Given the description of an element on the screen output the (x, y) to click on. 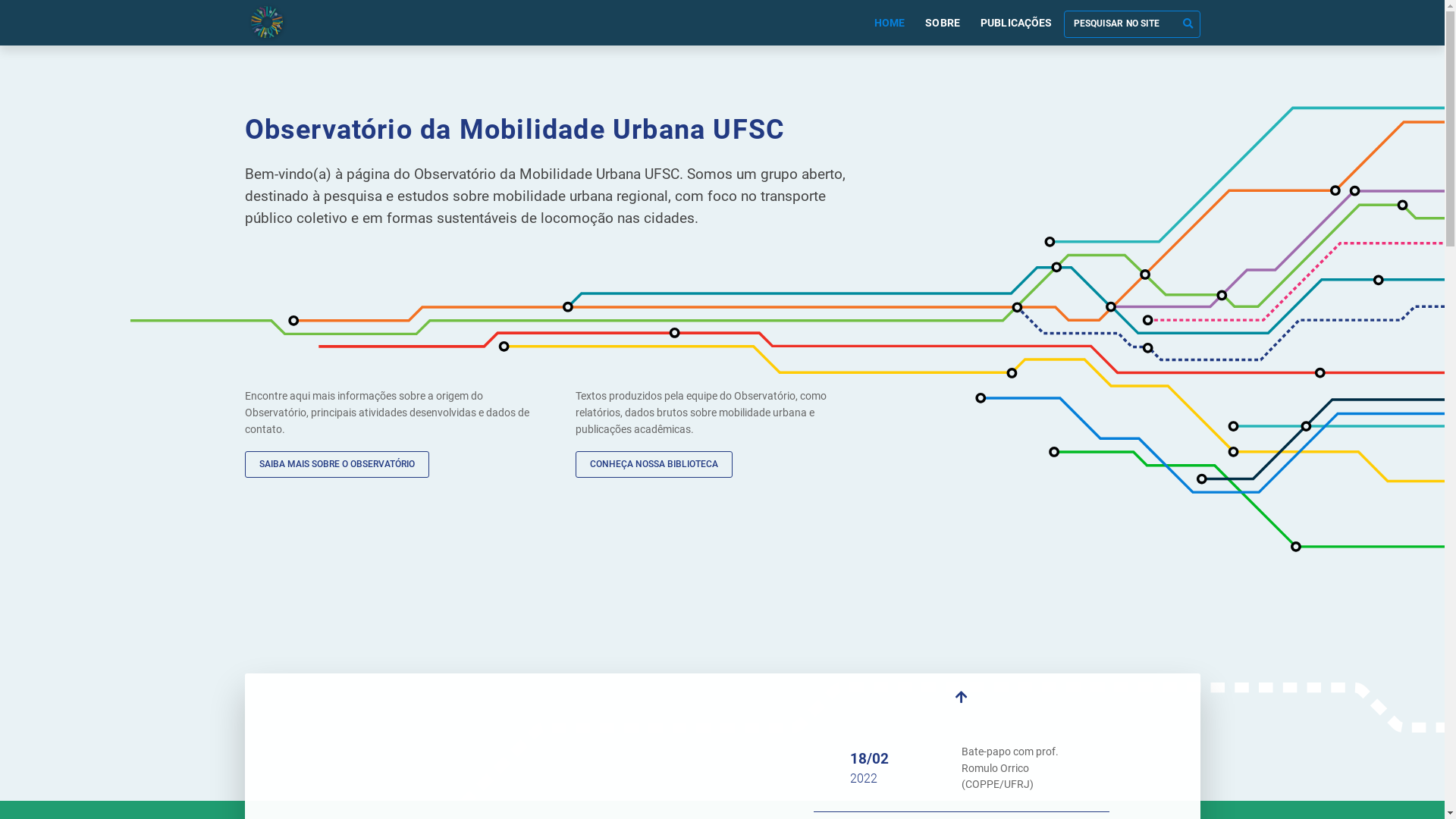
HOME Element type: text (889, 22)
SOBRE Element type: text (942, 22)
